Given the description of an element on the screen output the (x, y) to click on. 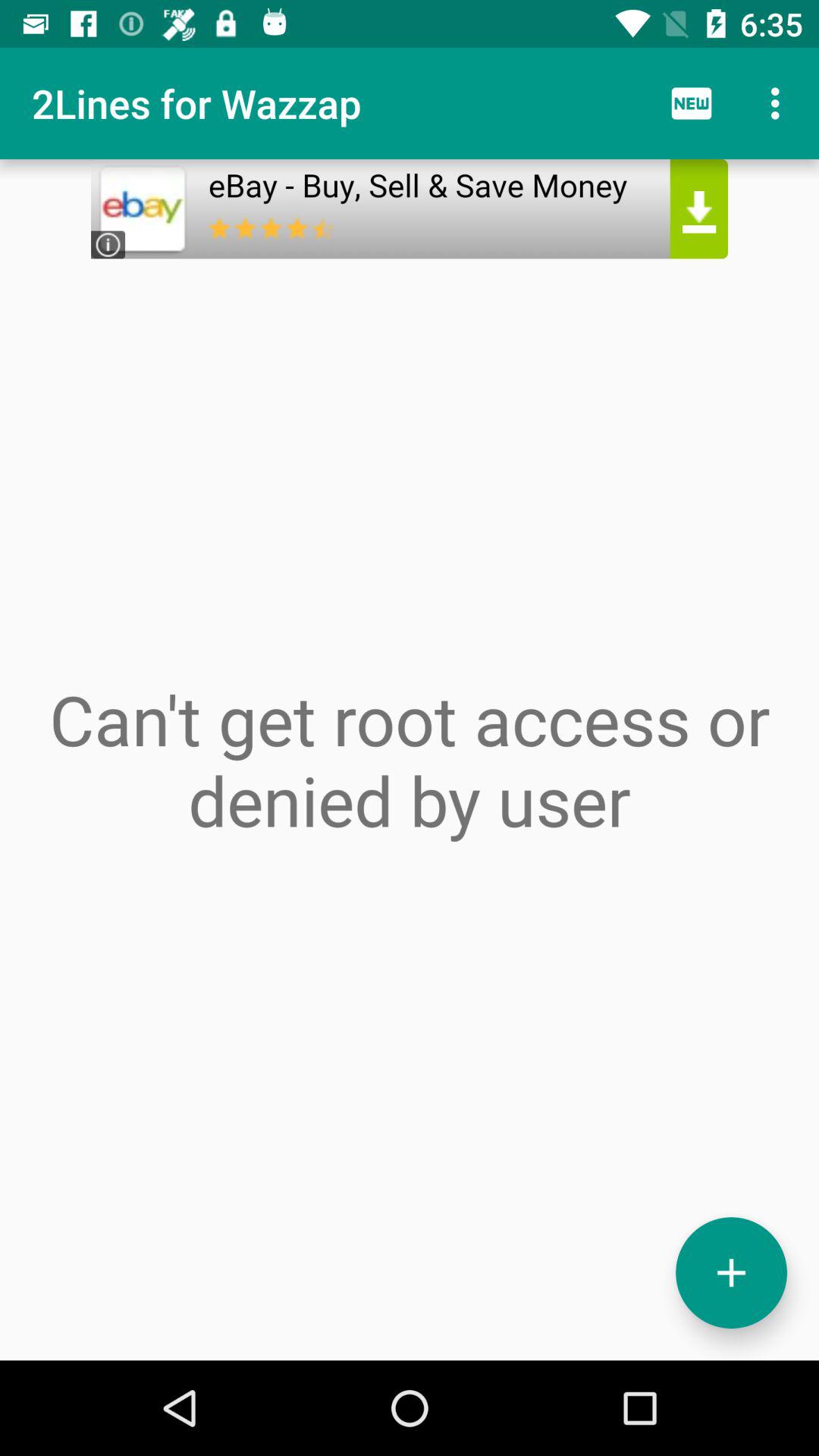
launch item above can t get icon (409, 261)
